Given the description of an element on the screen output the (x, y) to click on. 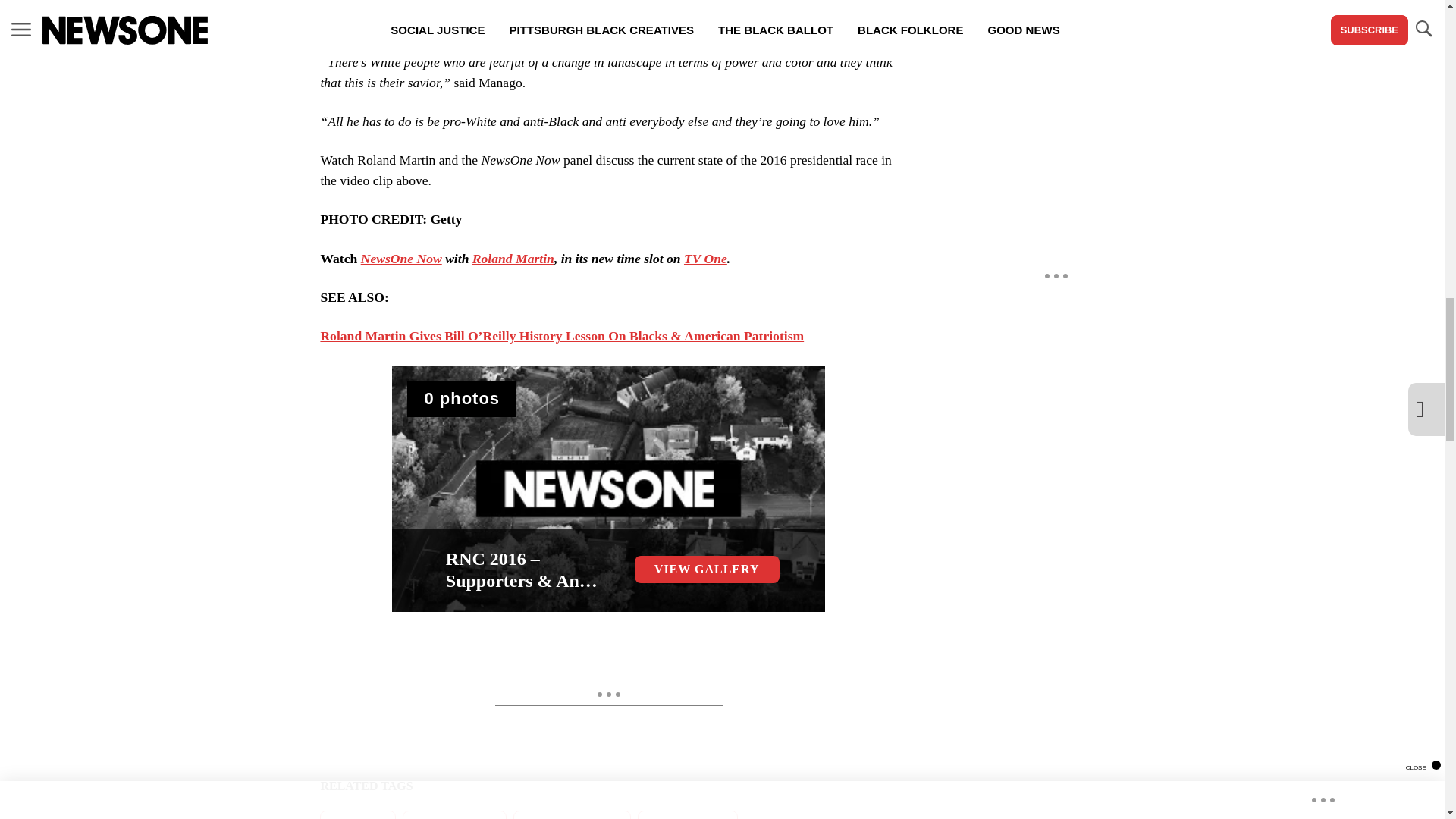
NewsOne Now with Roland Martin on TV One (705, 258)
TV One (705, 258)
HILLARY CLINTON (571, 814)
NewsOne Now (401, 258)
NewsOne Now with Roland Martin (401, 258)
Media Playlist (461, 398)
Roland Martin (512, 258)
NEWSONE NOW (687, 814)
DONALD TRUMP (454, 814)
ALT-RIGHT (358, 814)
